Given the description of an element on the screen output the (x, y) to click on. 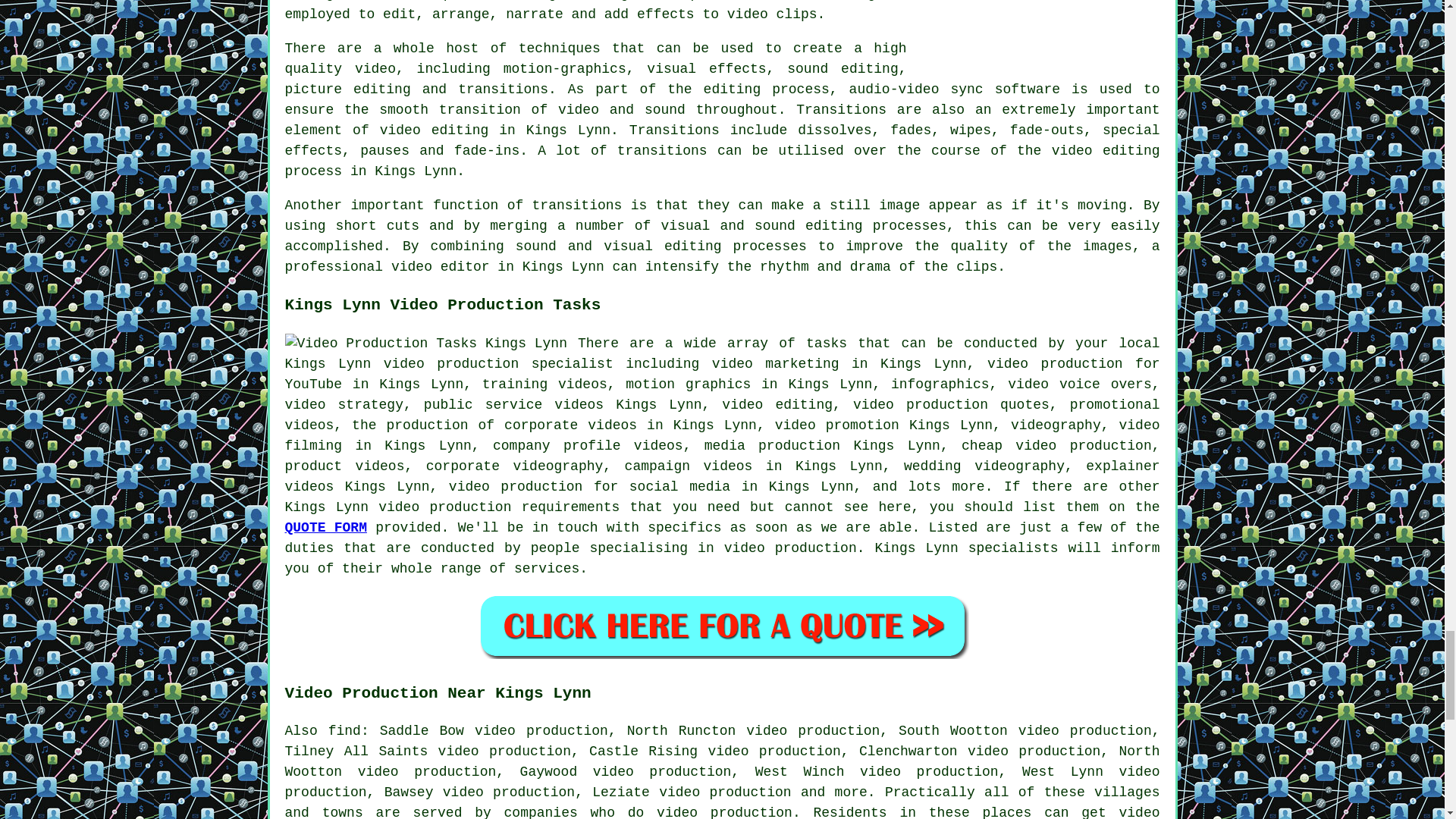
Video Production Tasks Kings Lynn (426, 343)
the production of corporate videos (494, 425)
KINGS LYNN VIDEO PRODUCTION QUOTES (722, 625)
